Given the description of an element on the screen output the (x, y) to click on. 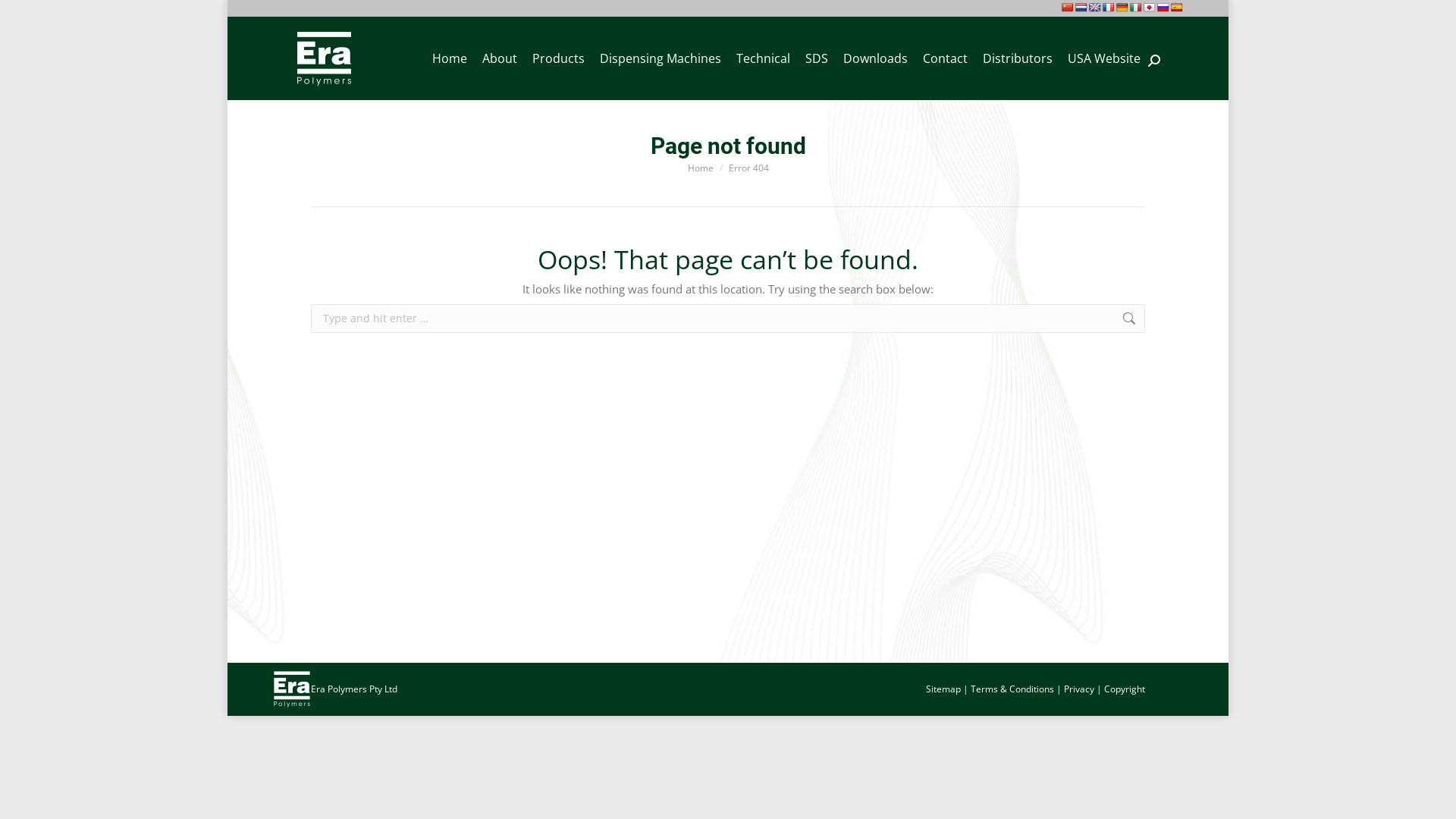
German Element type: hover (1122, 7)
Home Element type: text (449, 58)
USA Website Element type: text (1104, 58)
Japanese Element type: hover (1149, 7)
Privacy Element type: text (1078, 688)
SDS Element type: text (816, 58)
Products Element type: text (558, 58)
Dispensing Machines Element type: text (660, 58)
Contact Element type: text (945, 58)
Go! Element type: text (23, 16)
Downloads Element type: text (875, 58)
Distributors Element type: text (1017, 58)
Technical Element type: text (762, 58)
Sitemap Element type: text (942, 688)
Italian Element type: hover (1135, 7)
Chinese (Simplified) Element type: hover (1067, 7)
Copyright Element type: text (1124, 688)
About Element type: text (499, 58)
English Element type: hover (1094, 7)
Home Element type: text (699, 166)
Go! Element type: text (1168, 320)
Russian Element type: hover (1163, 7)
Terms & Conditions Element type: text (1012, 688)
French Element type: hover (1108, 7)
Dutch Element type: hover (1081, 7)
Spanish Element type: hover (1176, 7)
